Given the description of an element on the screen output the (x, y) to click on. 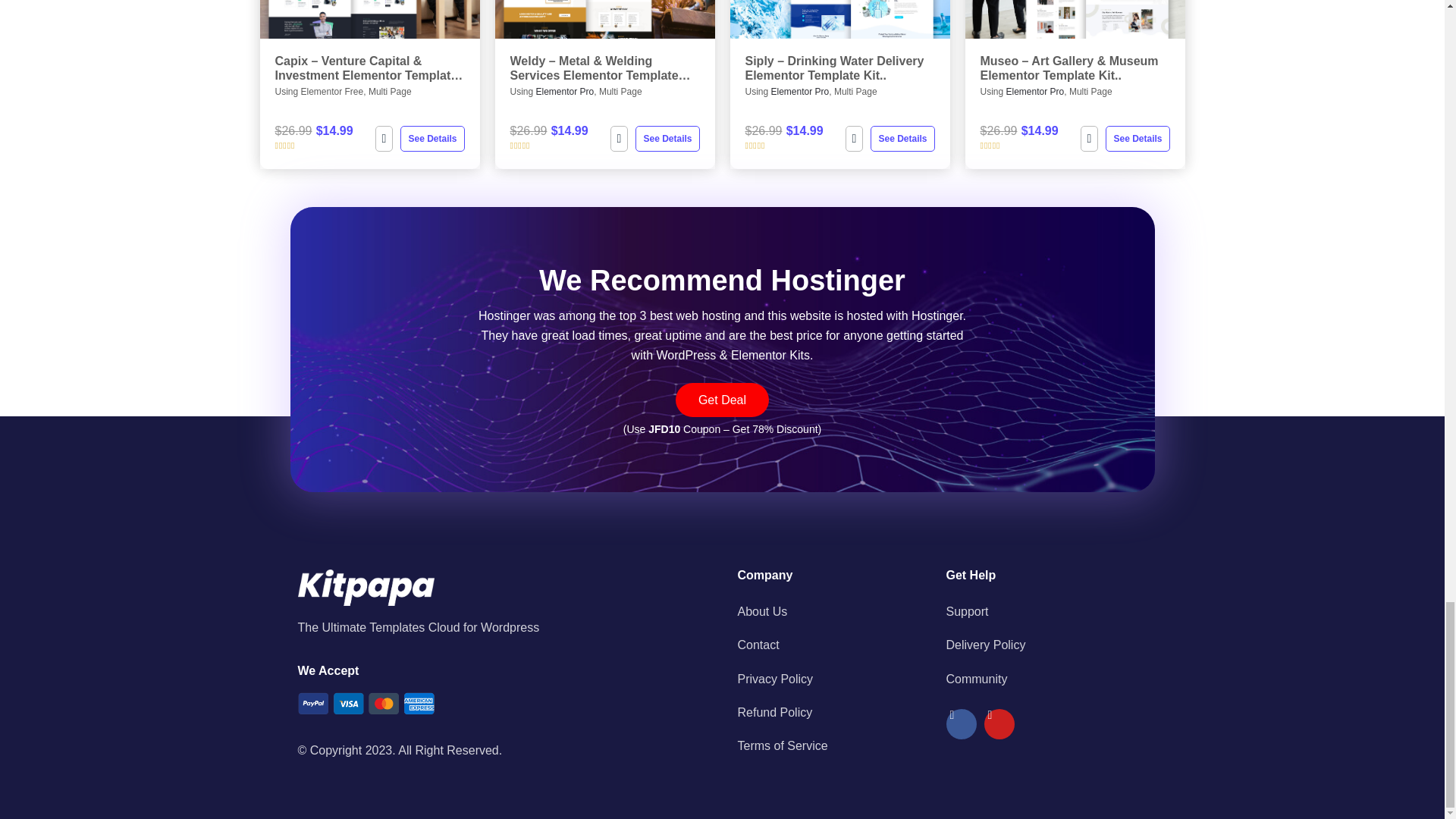
About Us (833, 611)
Elementor Pro (564, 91)
Elementor Pro (800, 91)
See Details (432, 138)
Elementor Pro (1035, 91)
Contact (833, 644)
See Details (902, 138)
Get Deal (721, 399)
See Details (1137, 138)
See Details (666, 138)
